Given the description of an element on the screen output the (x, y) to click on. 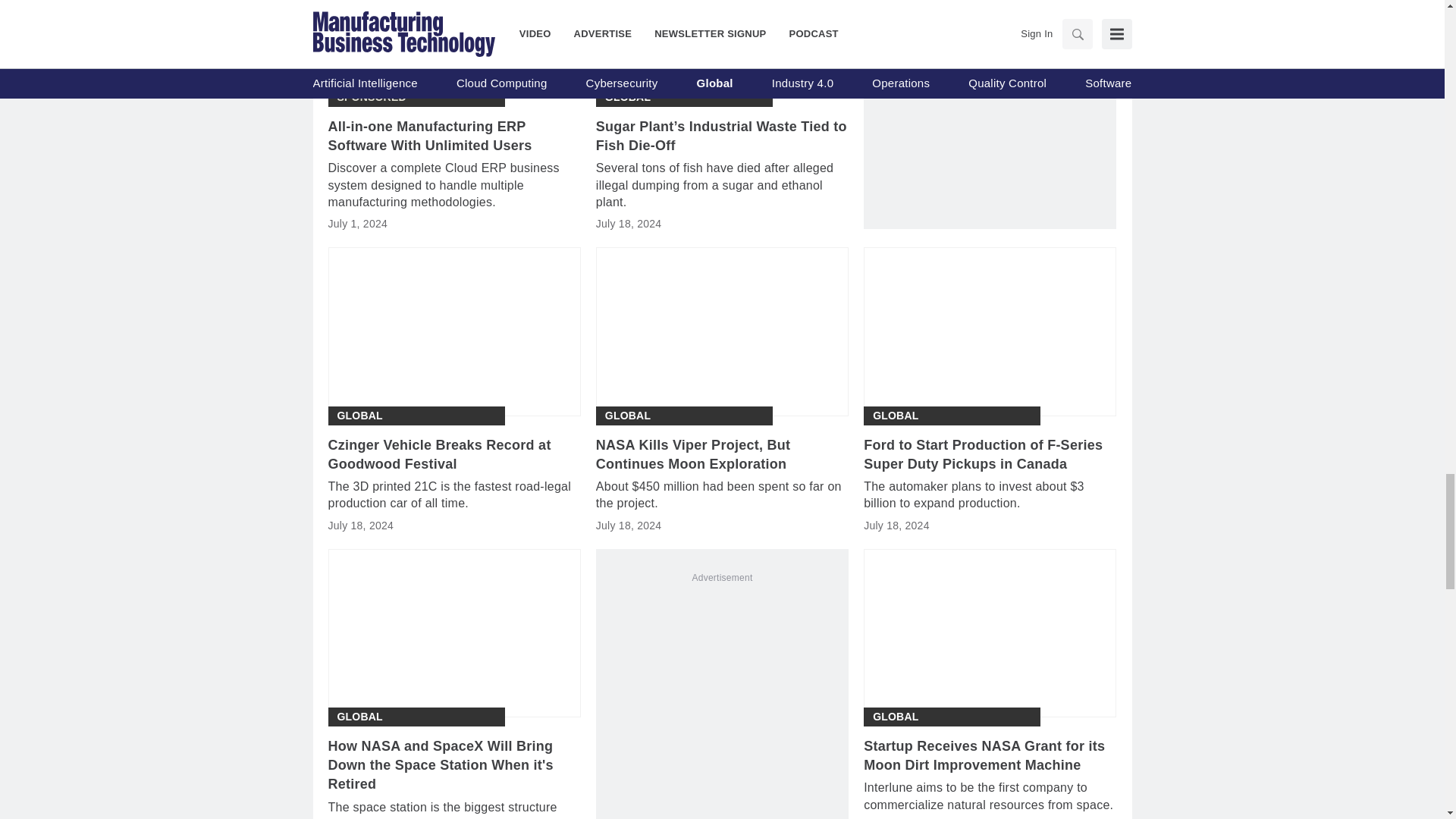
Global (627, 97)
Sponsored (371, 97)
Global (358, 415)
Global (627, 415)
